Given the description of an element on the screen output the (x, y) to click on. 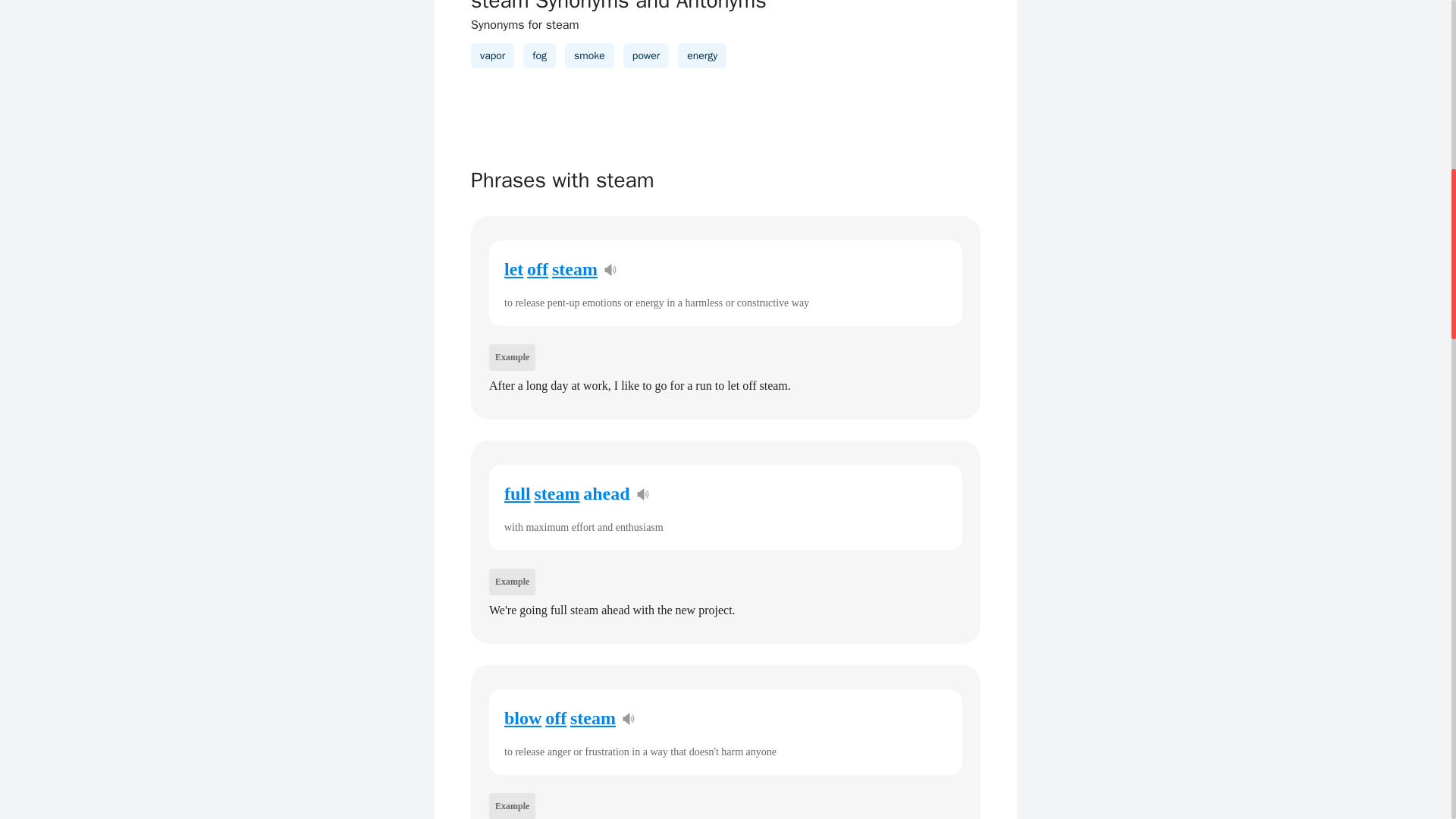
smoke (589, 55)
vapor (492, 55)
off (537, 269)
blow (522, 718)
off (555, 718)
full (517, 493)
let (512, 269)
power (645, 55)
steam (592, 718)
steam (573, 269)
